Given the description of an element on the screen output the (x, y) to click on. 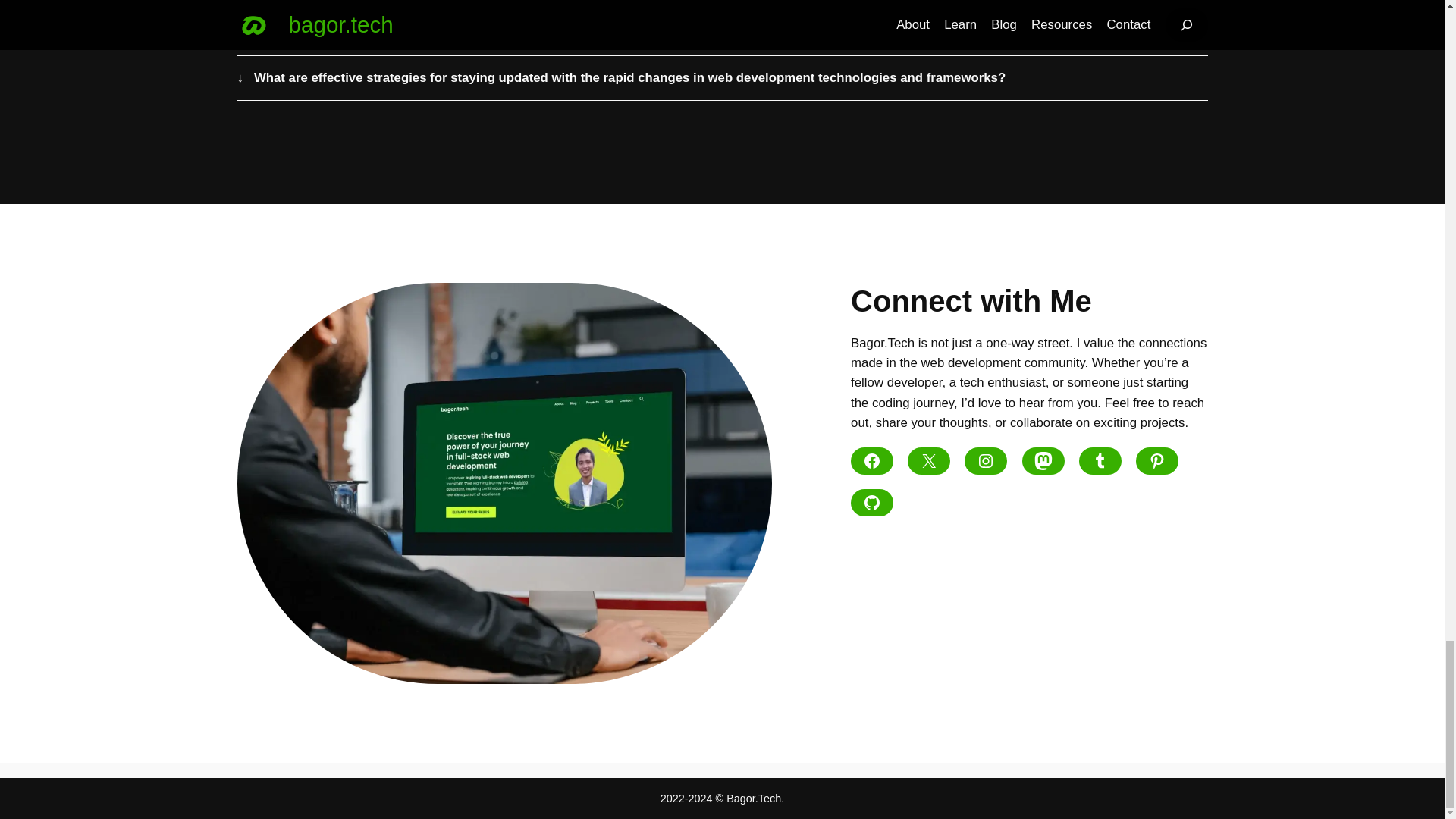
Pin Bagor.Tech on Pinterest! (1156, 461)
Follow Bagor.Tech on Mastodon Social! (1043, 461)
Follow Bagor.Tech at X! (928, 461)
Like Bagor.Tech on Facebook! (871, 461)
Follow Bagor.Tech on Instagram! (985, 461)
Read Bagor.Tech on Tumblr! (1099, 461)
GitHub (871, 502)
